Given the description of an element on the screen output the (x, y) to click on. 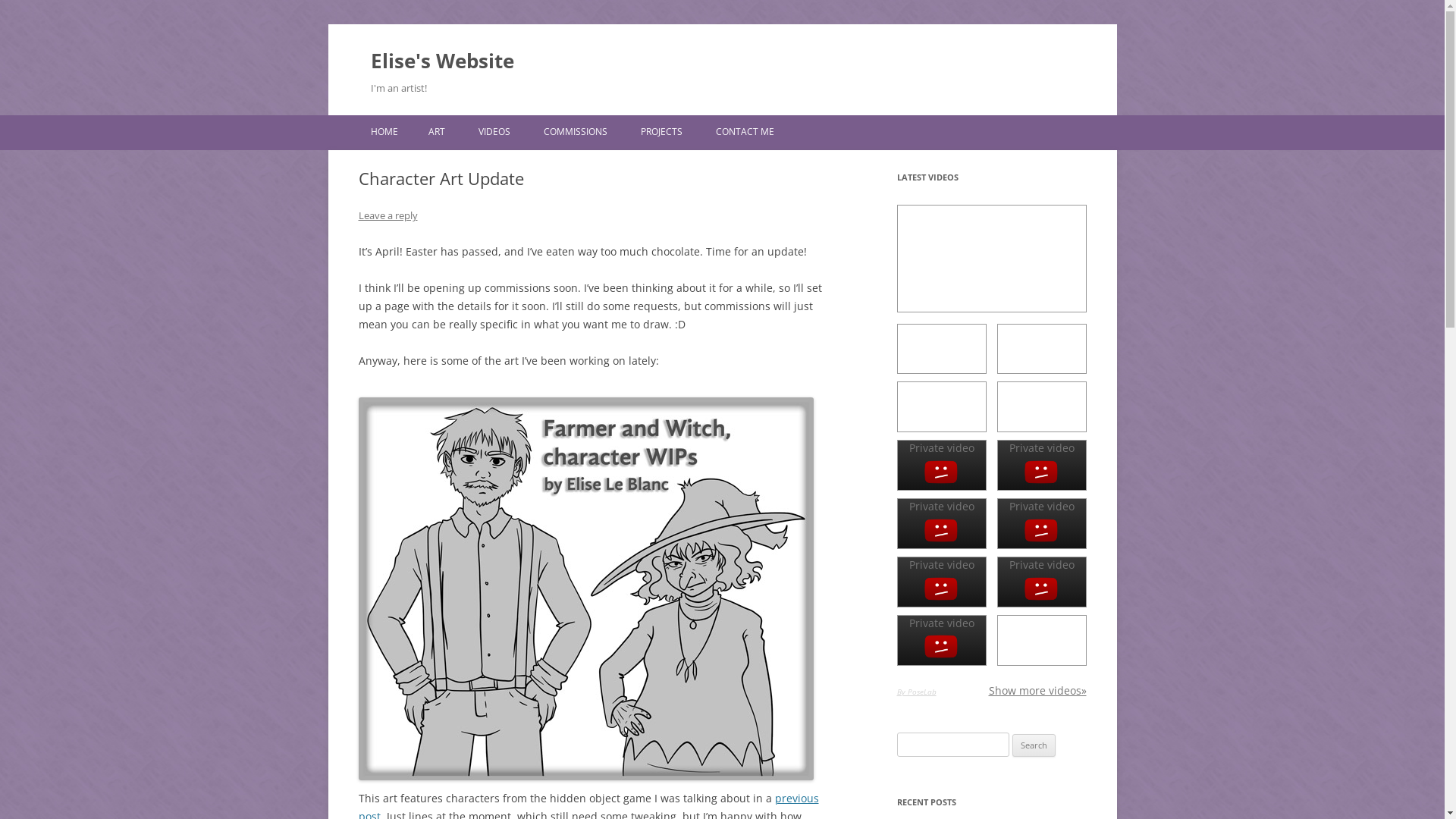
Drawing Fist Of The Coder - WATAAH! + animation! Element type: hover (940, 348)
Private video Element type: text (940, 581)
Search Element type: text (1033, 745)
Skip to content Element type: text (781, 120)
By PoseLab Element type: text (915, 691)
Private video Element type: text (940, 464)
ART Element type: text (435, 131)
Drawing Game Grumps: A Link To The Danny Bunny Element type: hover (1040, 640)
Elise's Website Element type: text (441, 60)
Leave a reply Element type: text (387, 215)
Drawing UNDERTALE - Bratty and Catty~! Element type: hover (1040, 406)
Drawing Slime Rancher - Valentines Special! + ANIMATION! Element type: hover (1040, 348)
VIDEOS Element type: text (493, 131)
Private video Element type: text (1040, 581)
Private video Element type: text (1040, 523)
Private video Element type: text (940, 640)
PROJECTS Element type: text (660, 131)
Drawing TECHNICAL DIFFICULTIES Element type: hover (940, 406)
Private video Element type: text (940, 523)
HOME Element type: text (383, 131)
COMMISSIONS Element type: text (574, 131)
Private video Element type: text (1040, 464)
CONTACT ME Element type: text (744, 131)
